Given the description of an element on the screen output the (x, y) to click on. 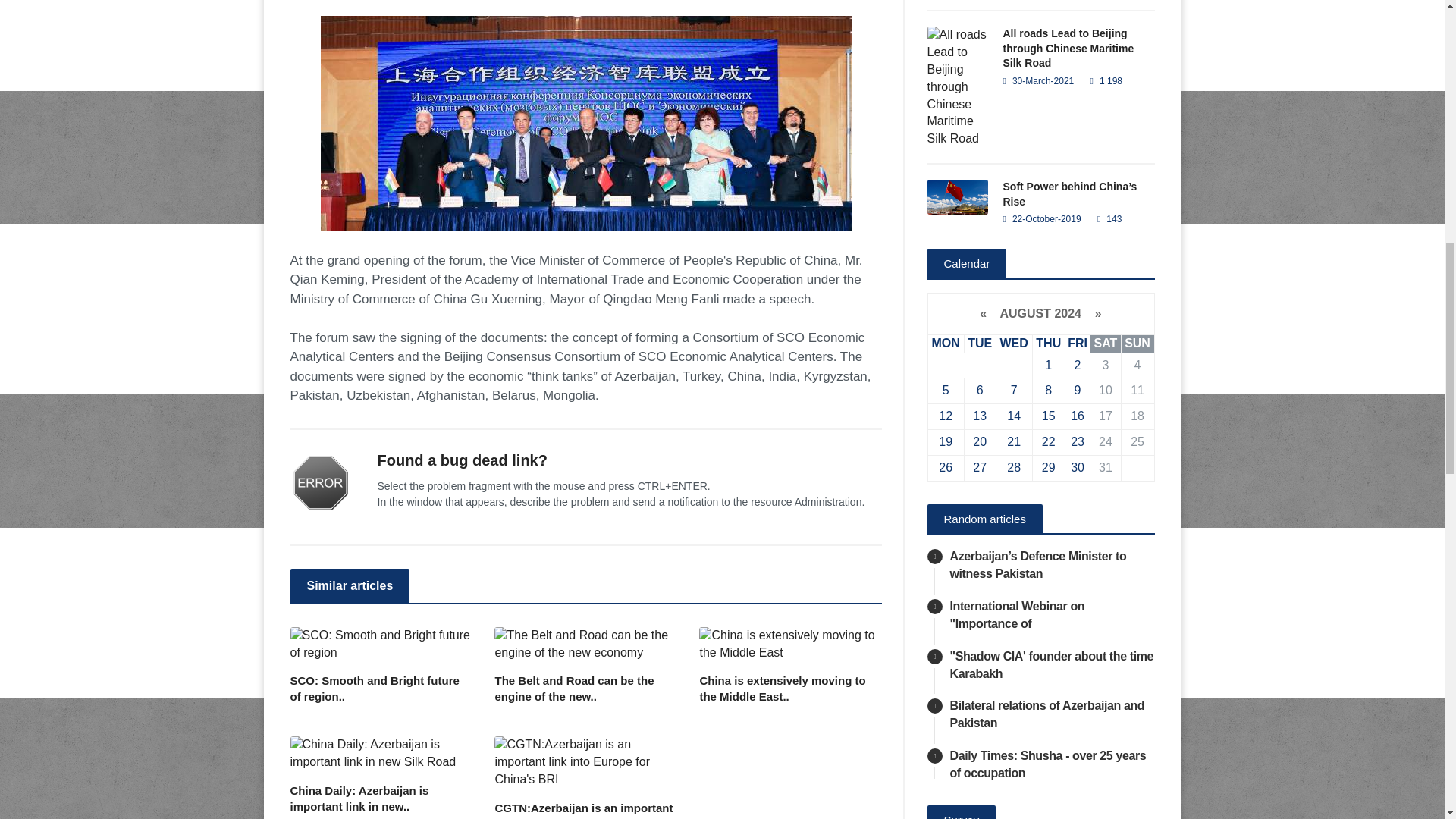
SCO: Smooth and Bright future of region.. (380, 688)
The Belt and Road can be the engine of the new.. (586, 688)
China is extensively moving to the Middle East.. (789, 688)
China Daily: Azerbaijan is important link in new.. (380, 798)
